Given the description of an element on the screen output the (x, y) to click on. 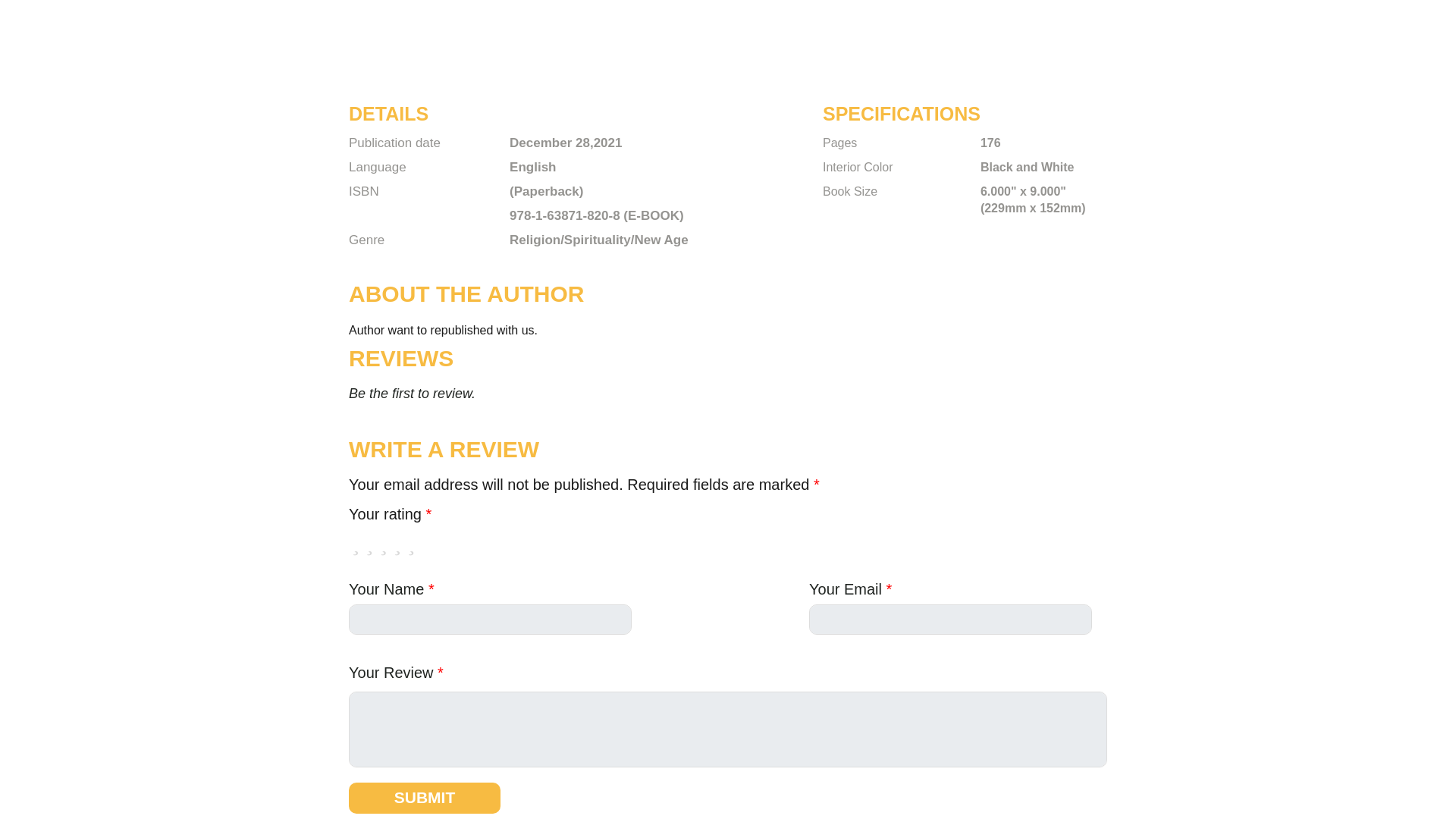
Satisfactory (383, 545)
SUBMIT (424, 798)
Bad (368, 545)
Excellent (410, 545)
Good (397, 545)
SUBMIT (424, 798)
Very bad (355, 545)
